Given the description of an element on the screen output the (x, y) to click on. 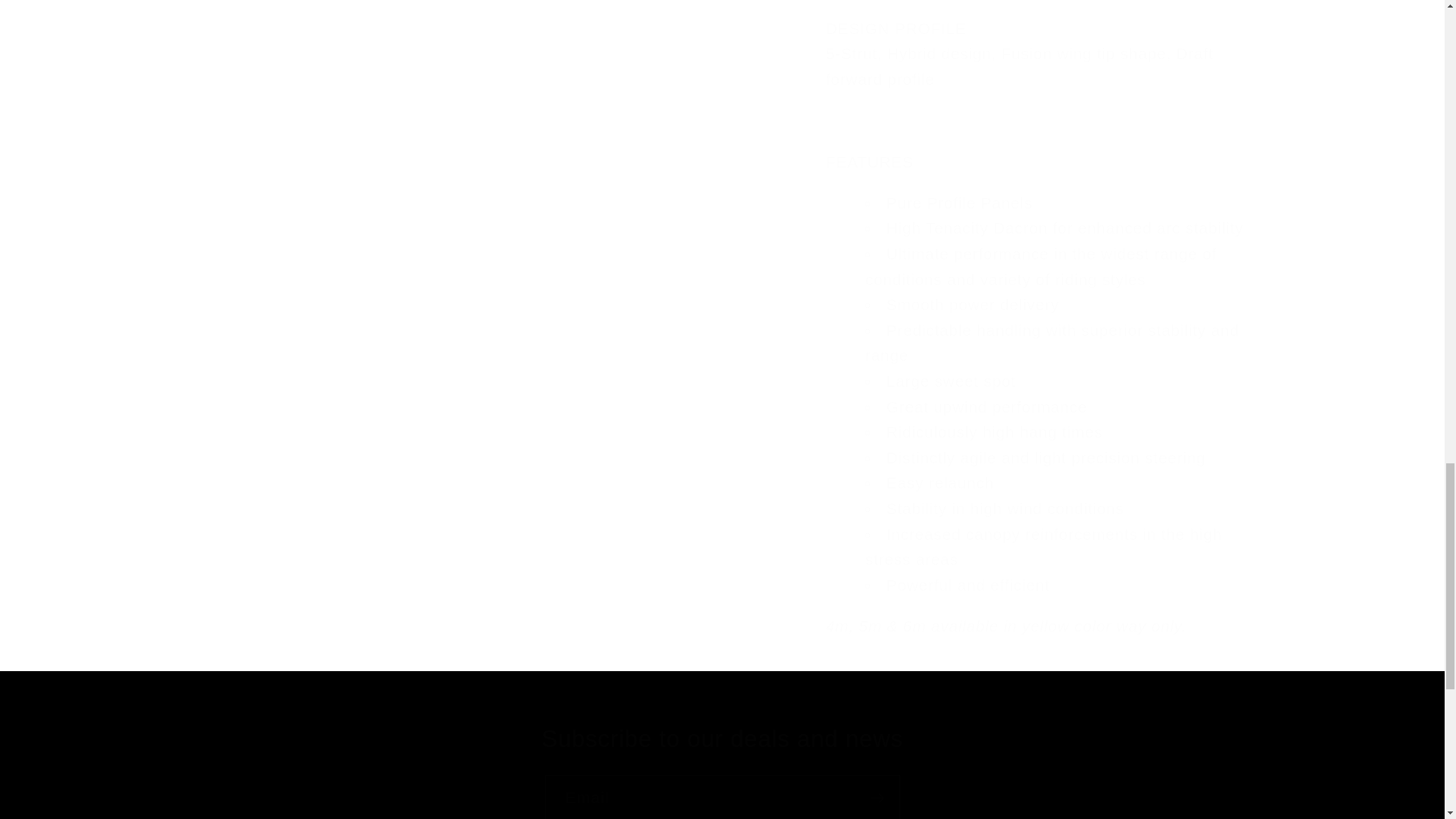
Email (721, 796)
Subscribe to our deals and news (721, 739)
